Given the description of an element on the screen output the (x, y) to click on. 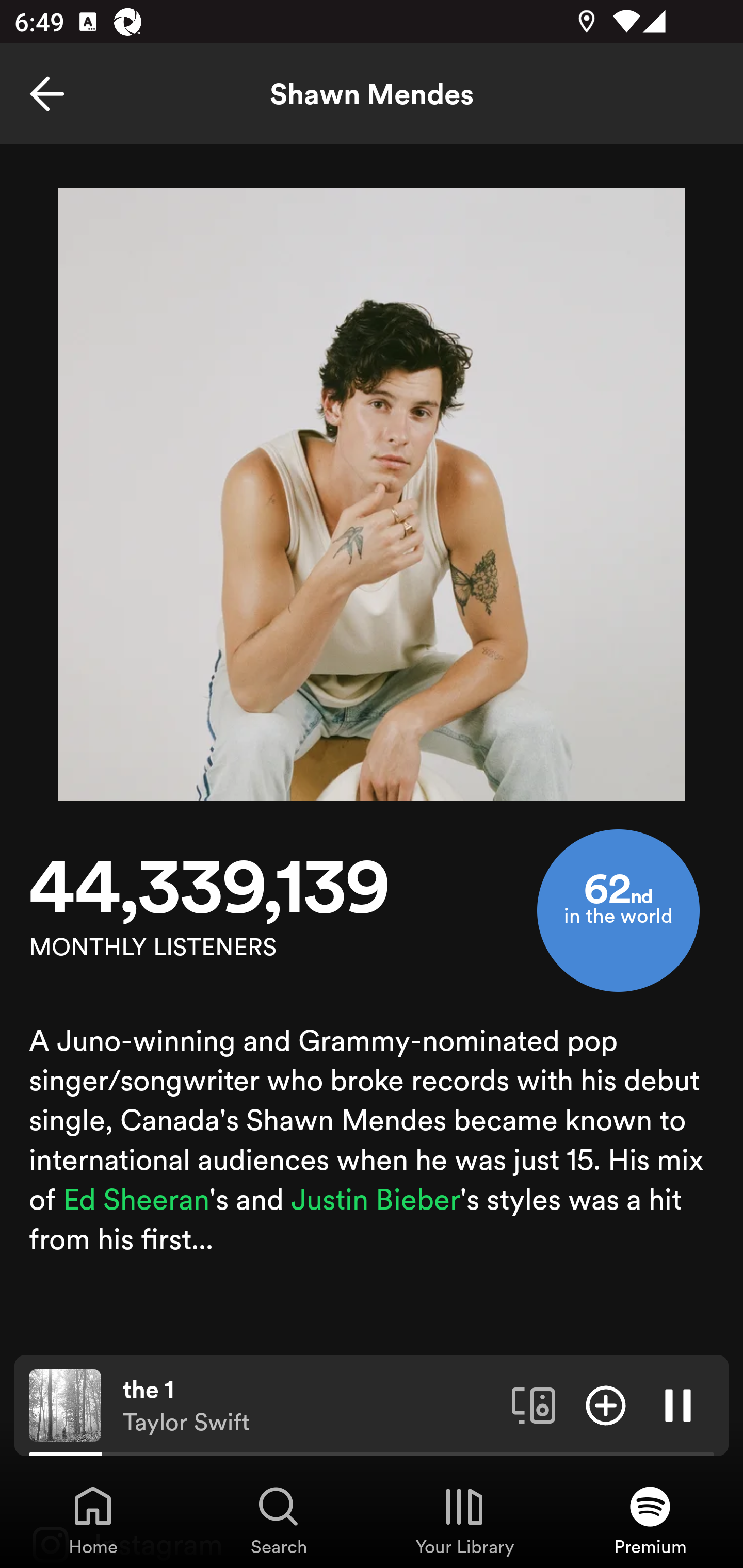
Back (46, 93)
the 1 Taylor Swift (309, 1405)
The cover art of the currently playing track (64, 1404)
Connect to a device. Opens the devices menu (533, 1404)
Add item (605, 1404)
Pause (677, 1404)
Home, Tab 1 of 4 Home Home (92, 1519)
Search, Tab 2 of 4 Search Search (278, 1519)
Your Library, Tab 3 of 4 Your Library Your Library (464, 1519)
Premium, Tab 4 of 4 Premium Premium (650, 1519)
